Given the description of an element on the screen output the (x, y) to click on. 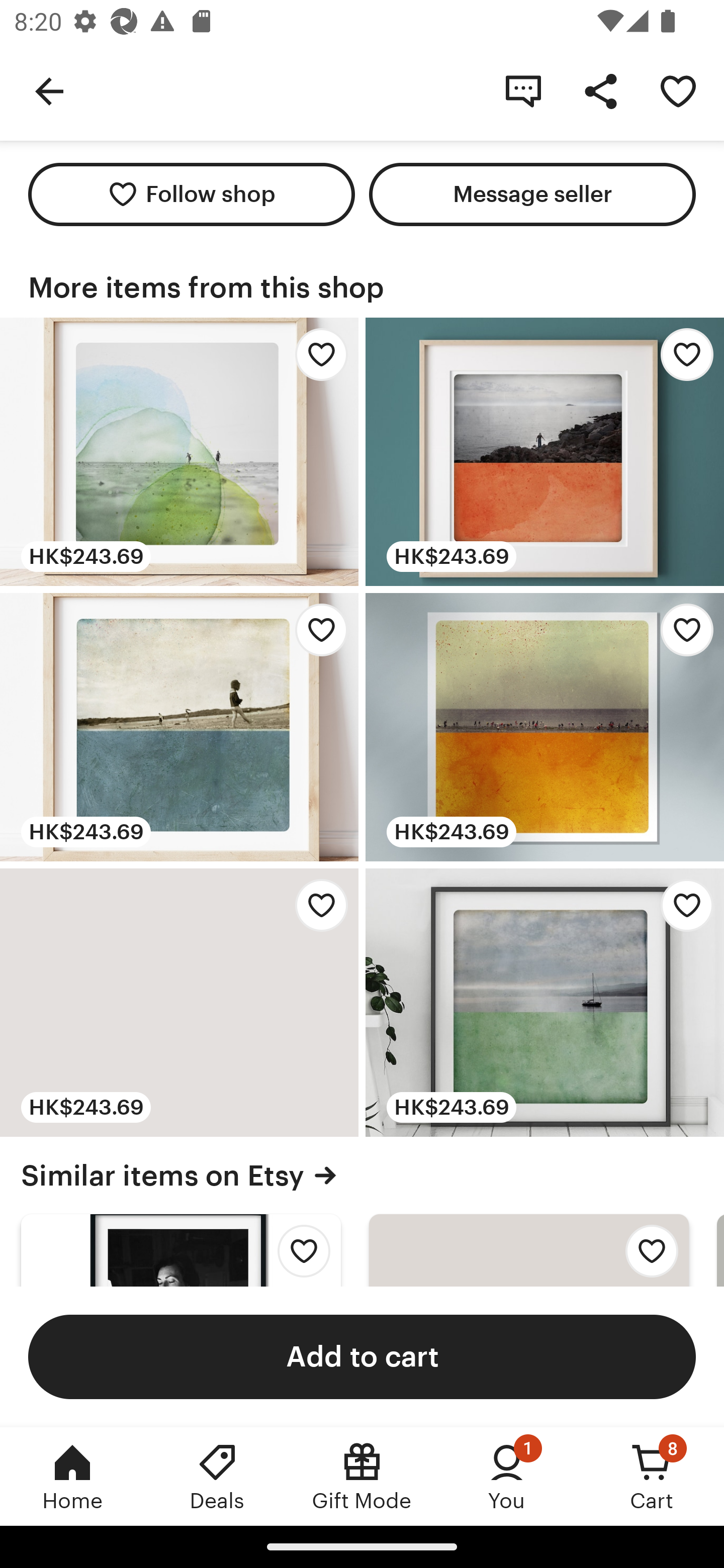
Navigate up (49, 90)
Contact shop (523, 90)
Share (600, 90)
Follow shop Follow labokoff (191, 194)
Message seller (532, 194)
Similar items on Etsy  (362, 1174)
Add to cart (361, 1355)
Deals (216, 1475)
Gift Mode (361, 1475)
You, 1 new notification You (506, 1475)
Cart, 8 new notifications Cart (651, 1475)
